Given the description of an element on the screen output the (x, y) to click on. 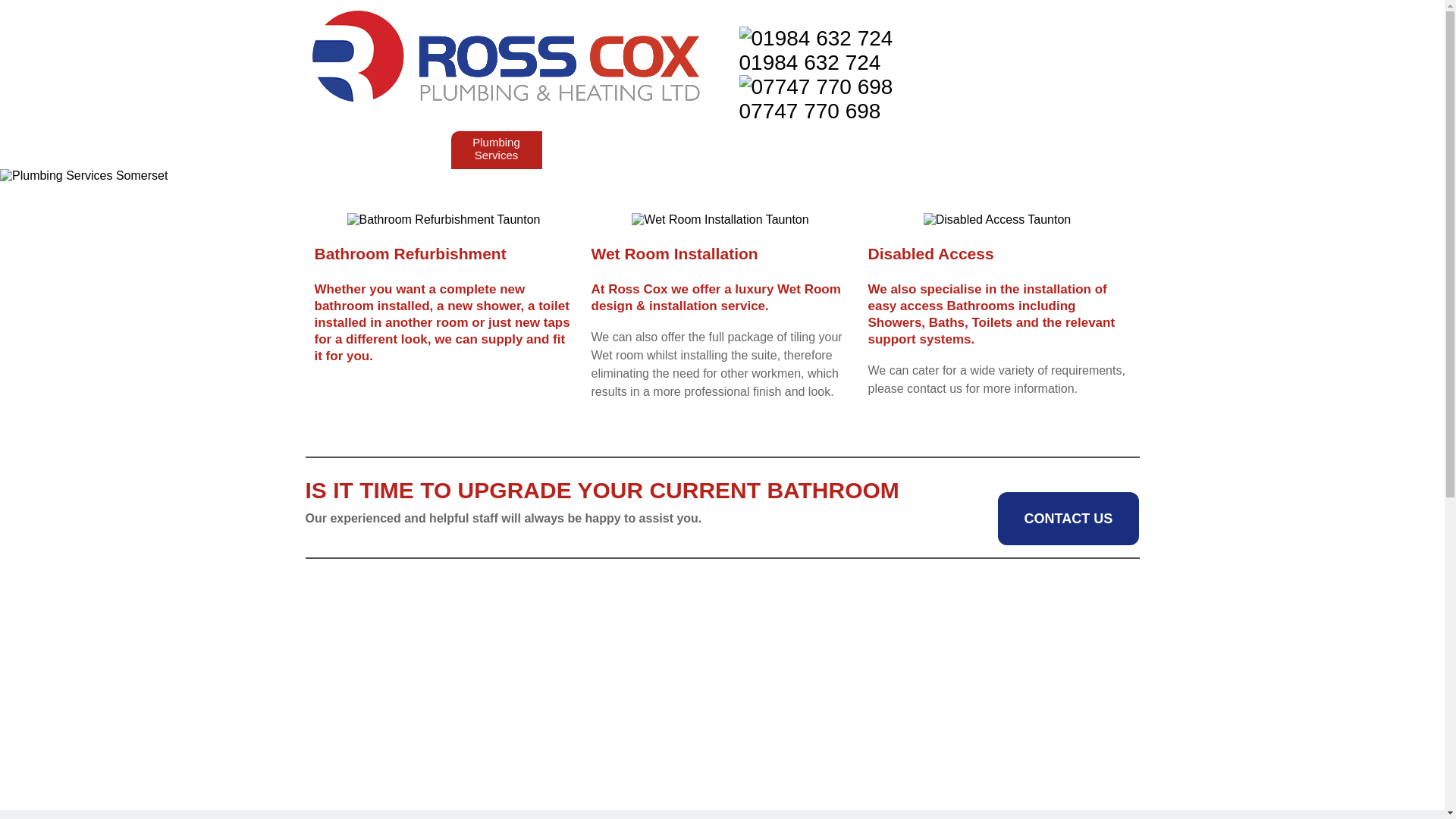
Commercial (584, 146)
Home (331, 146)
Home (331, 146)
Plumbing Services (496, 149)
Contact Us (1088, 146)
Heating Services (405, 148)
Promotions (919, 146)
Testimonials (1004, 146)
Finance (659, 146)
Worcester Accredited (834, 148)
